Given the description of an element on the screen output the (x, y) to click on. 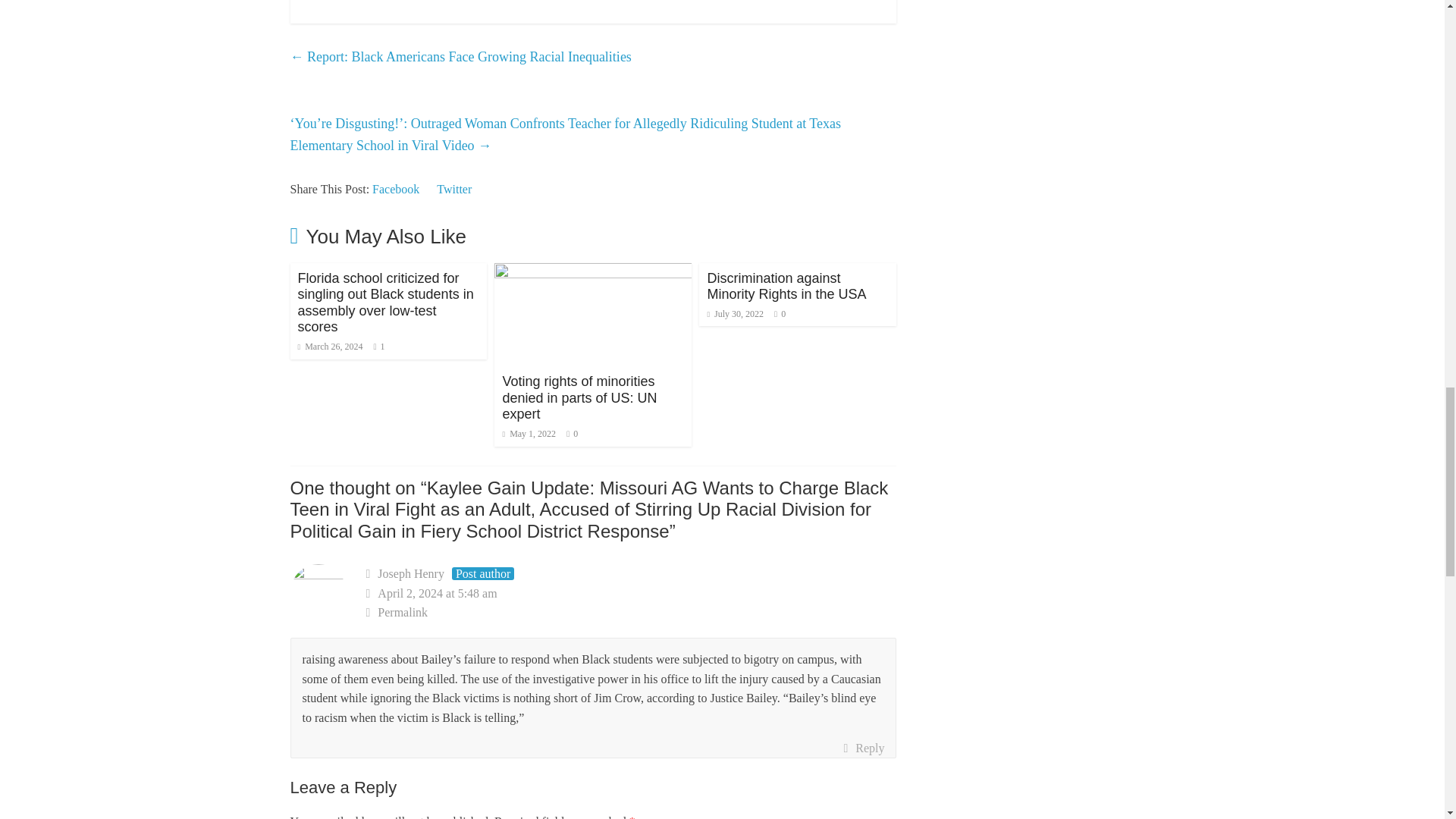
5:43 am (329, 346)
6:08 pm (529, 433)
Twitter (453, 188)
Voting rights of minorities denied in parts of US: UN expert (593, 272)
March 26, 2024 (329, 346)
Facebook (395, 188)
Voting rights of minorities denied in parts of US: UN expert (579, 397)
May 1, 2022 (529, 433)
Voting rights of minorities denied in parts of US: UN expert (579, 397)
